Given the description of an element on the screen output the (x, y) to click on. 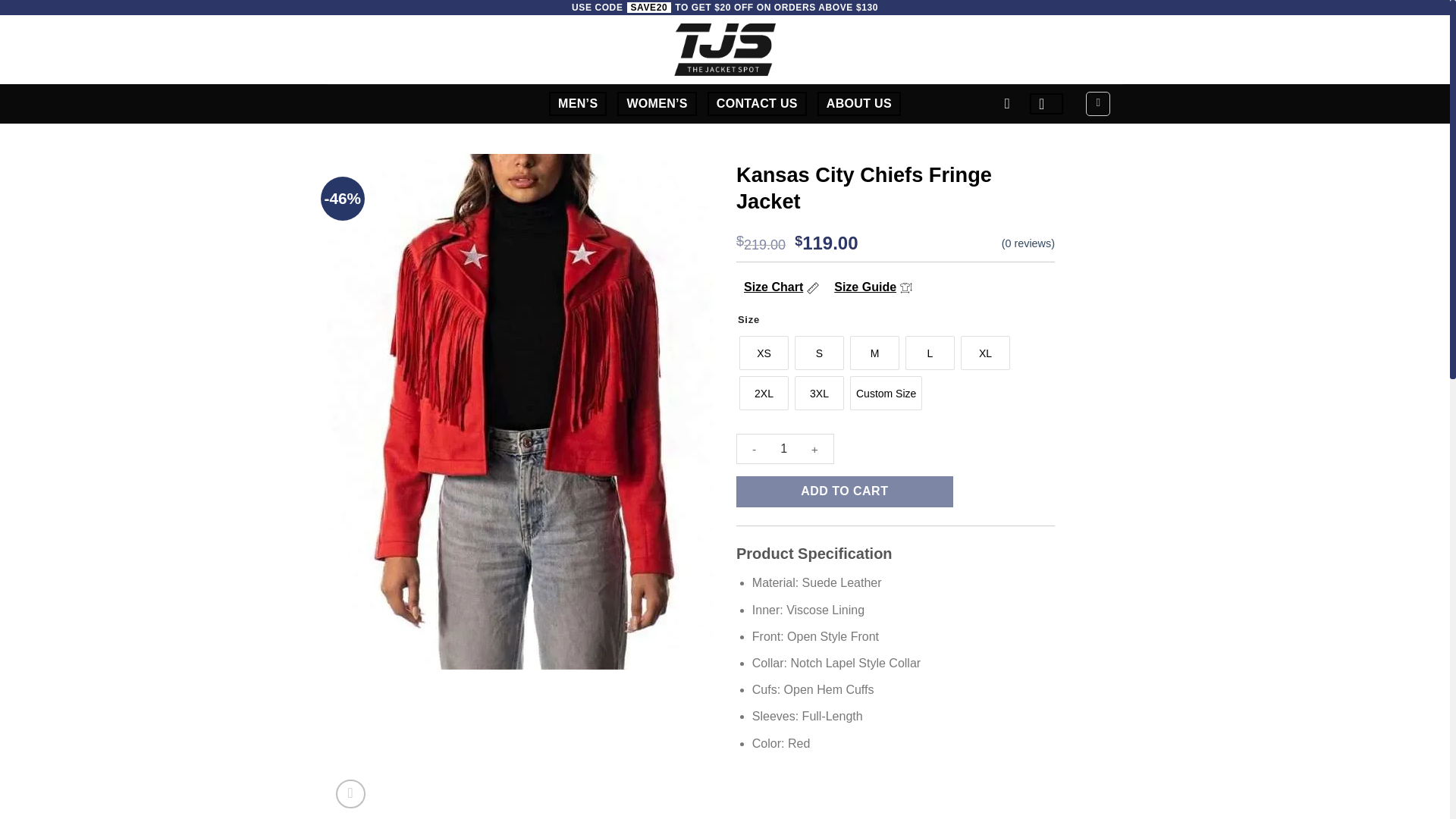
CONTACT US (756, 103)
Custom Size (885, 392)
- (753, 449)
XS (764, 352)
M (874, 352)
The Jacket Spot (724, 49)
S (819, 352)
2XL (764, 392)
L (930, 352)
Cart (1097, 103)
Size Chart (781, 287)
3XL (819, 392)
XL (985, 352)
Size Guide (873, 287)
ABOUT US (858, 103)
